Given the description of an element on the screen output the (x, y) to click on. 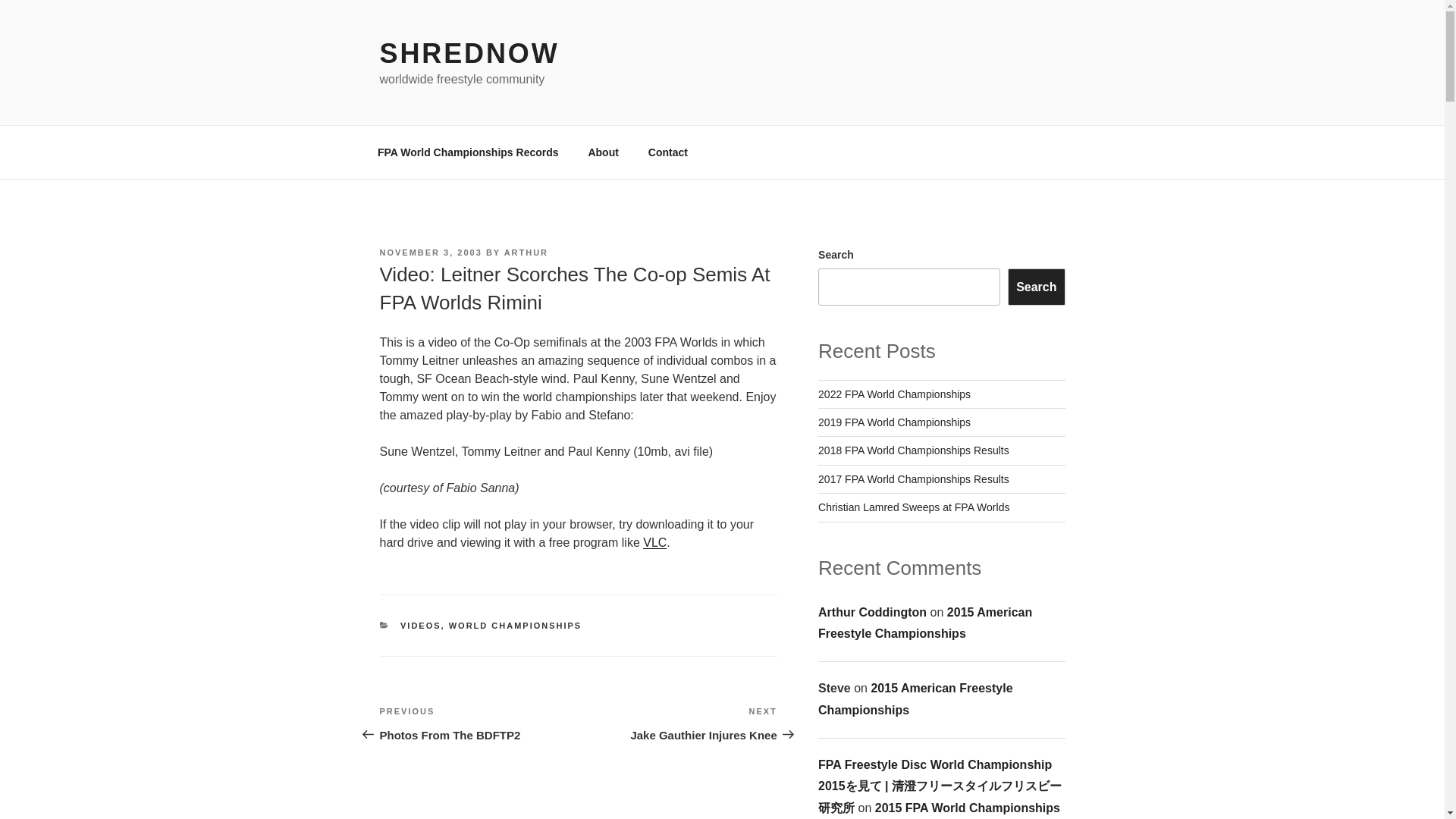
VIDEOS (677, 723)
2015 American Freestyle Championships (420, 624)
FPA World Championships Records (925, 622)
2017 FPA World Championships Results (468, 151)
2022 FPA World Championships (913, 479)
2015 American Freestyle Championships (894, 394)
Arthur Coddington (914, 698)
ARTHUR (872, 611)
